Given the description of an element on the screen output the (x, y) to click on. 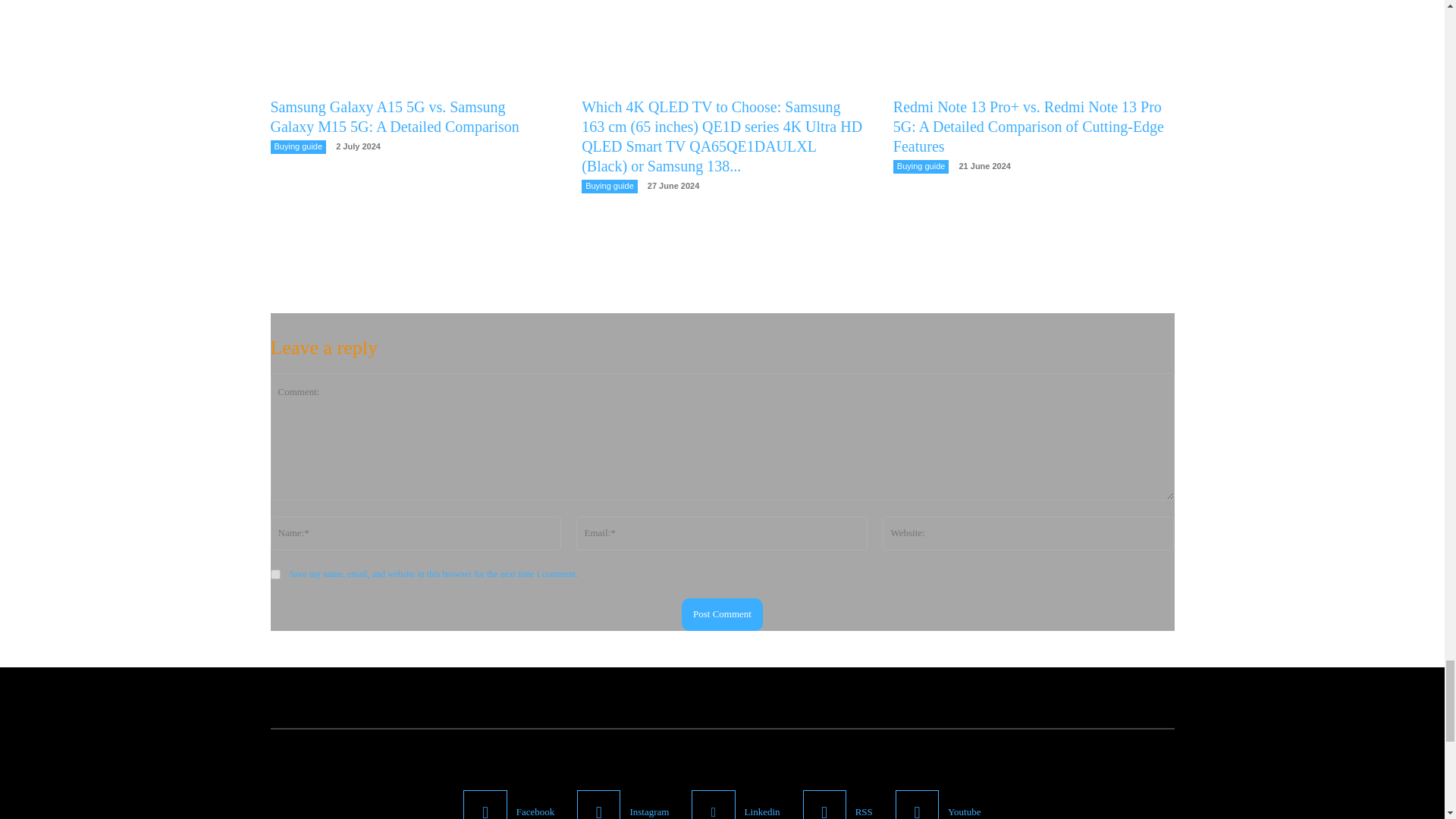
Post Comment (721, 614)
yes (274, 574)
